Given the description of an element on the screen output the (x, y) to click on. 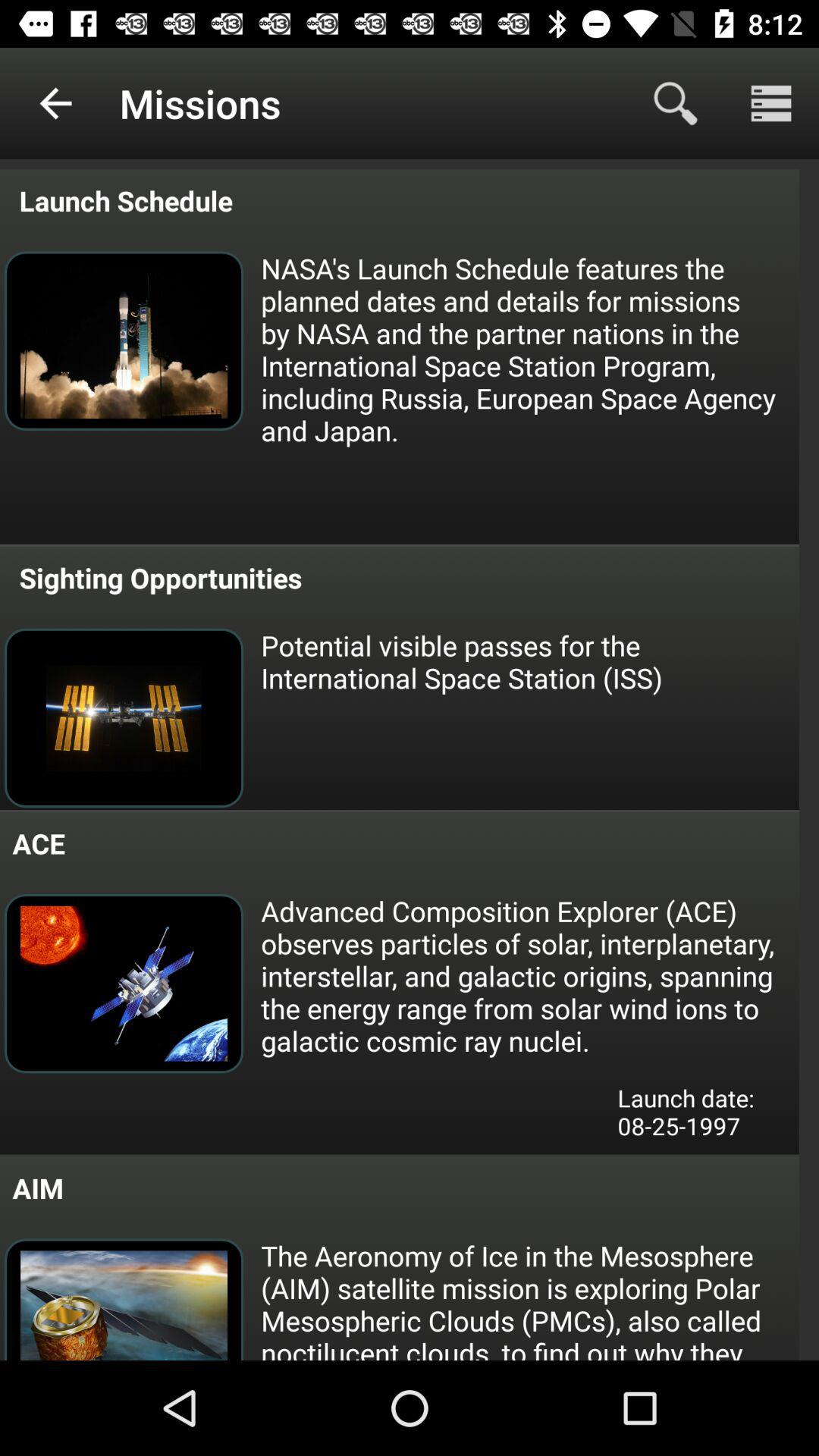
choose icon above launch date 08 icon (528, 975)
